Given the description of an element on the screen output the (x, y) to click on. 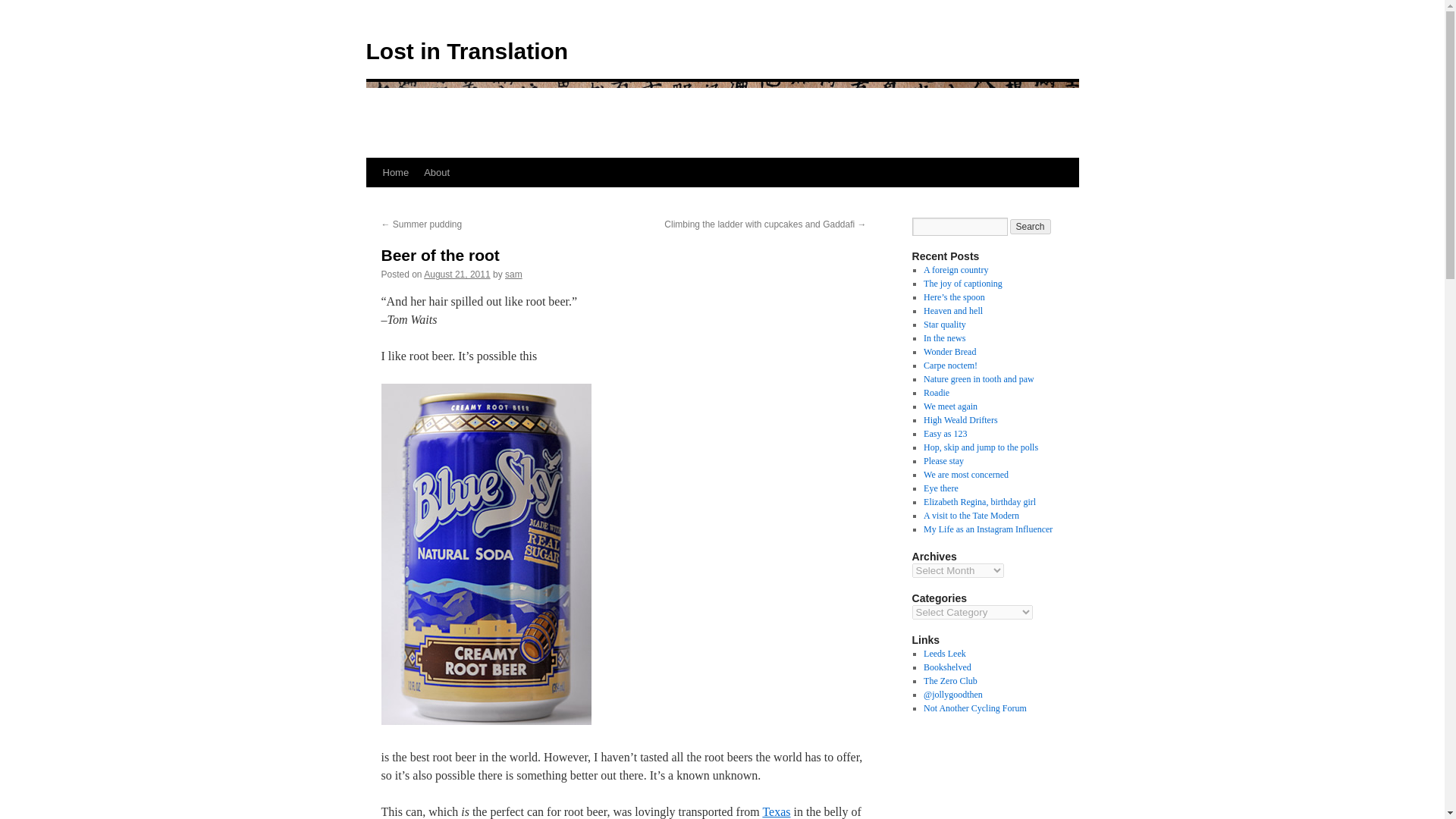
Wonder Bread (949, 351)
Roadie (936, 392)
About (436, 172)
Search (1030, 226)
High Weald Drifters (960, 419)
A visit to the Tate Modern (971, 515)
Easy as 123 (944, 433)
Lost in Translation (466, 50)
We are most concerned (966, 474)
Search (1030, 226)
sam (513, 274)
View all posts by sam (513, 274)
Eye there (940, 488)
A foreign country (955, 269)
August 21, 2011 (456, 274)
